Given the description of an element on the screen output the (x, y) to click on. 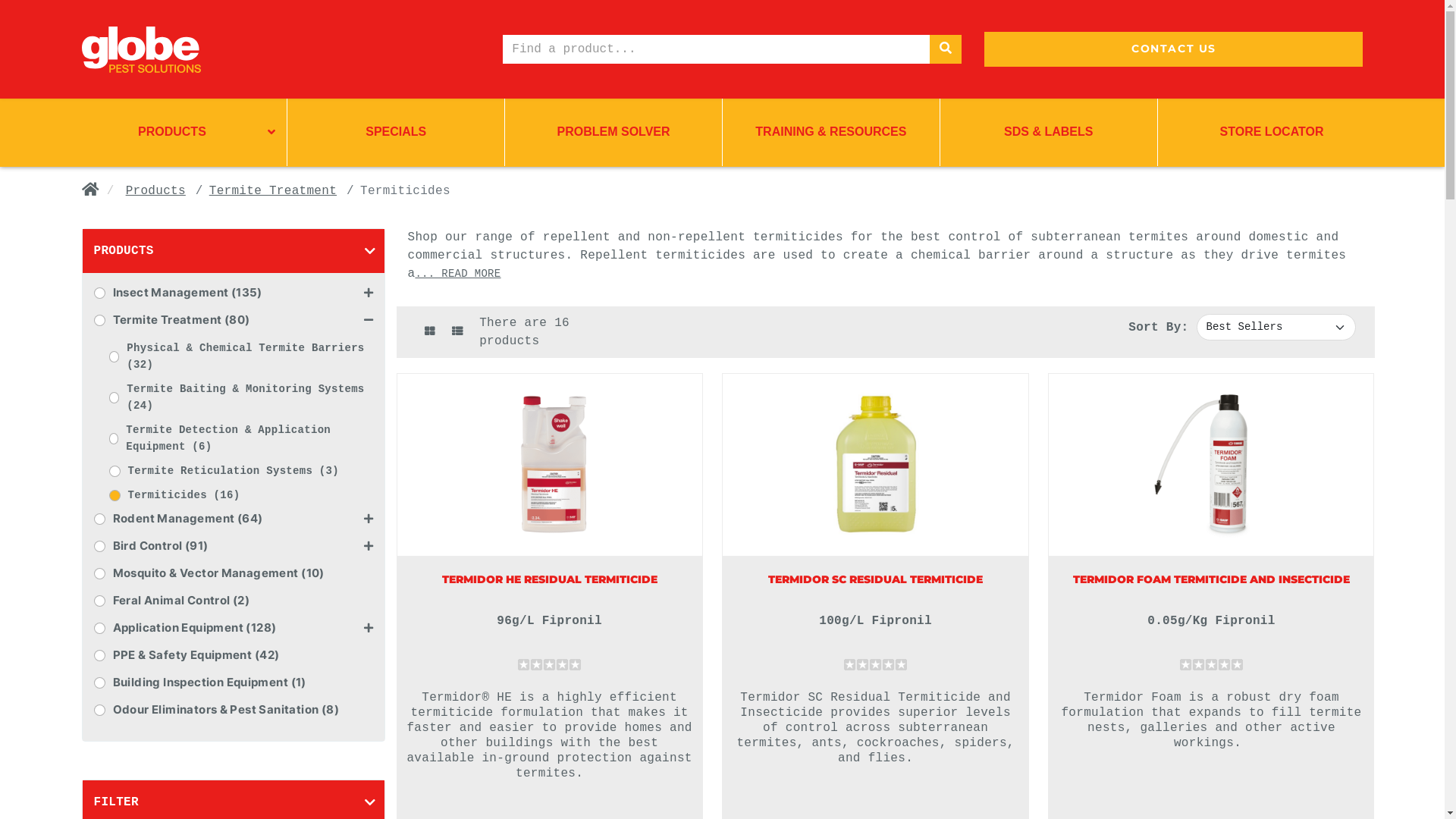
TERMIDOR SC RESIDUAL TERMITICIDE Element type: text (875, 579)
Insect Management (135) Element type: text (237, 292)
PRODUCTS Element type: text (177, 131)
SDS & LABELS Element type: text (1048, 131)
Bird Control (91) Element type: text (237, 545)
Building Inspection Equipment (1) Element type: text (242, 682)
Termite Reticulation Systems (3) Element type: text (232, 470)
Termidor Foam Termiticide and Insecticide Element type: hover (1210, 464)
Termidor HE Residual Termiticide Element type: hover (549, 464)
Feral Animal Control (2) Element type: text (242, 600)
STORE LOCATOR Element type: text (1265, 131)
Termidor HE Residual Termiticide Element type: hover (549, 464)
Termidor Foam Termiticide and Insecticide Element type: hover (1210, 464)
Termidor SC Residual Termiticide Element type: hover (875, 464)
TRAINING & RESOURCES Element type: text (830, 131)
Odour Eliminators & Pest Sanitation (8) Element type: text (242, 709)
Rodent Management (64) Element type: text (237, 518)
PROBLEM SOLVER Element type: text (613, 131)
TERMIDOR FOAM TERMITICIDE AND INSECTICIDE Element type: text (1211, 579)
Termite Treatment Element type: text (272, 190)
Products Element type: text (155, 190)
Termite Treatment (80) Element type: text (237, 319)
Termite Baiting & Monitoring Systems (24) Element type: text (249, 397)
TERMIDOR HE RESIDUAL TERMITICIDE Element type: text (549, 579)
Physical & Chemical Termite Barriers (32) Element type: text (249, 356)
Termite Detection & Application Equipment (6) Element type: text (248, 438)
CONTACT US Element type: text (1173, 48)
Mosquito & Vector Management (10) Element type: text (242, 572)
Termiticides (16) Element type: text (183, 494)
Application Equipment (128) Element type: text (237, 627)
Termidor SC Residual Termiticide Element type: hover (874, 464)
... READ MORE Element type: text (457, 273)
PPE & Safety Equipment (42) Element type: text (242, 654)
SPECIALS Element type: text (395, 131)
